Given the description of an element on the screen output the (x, y) to click on. 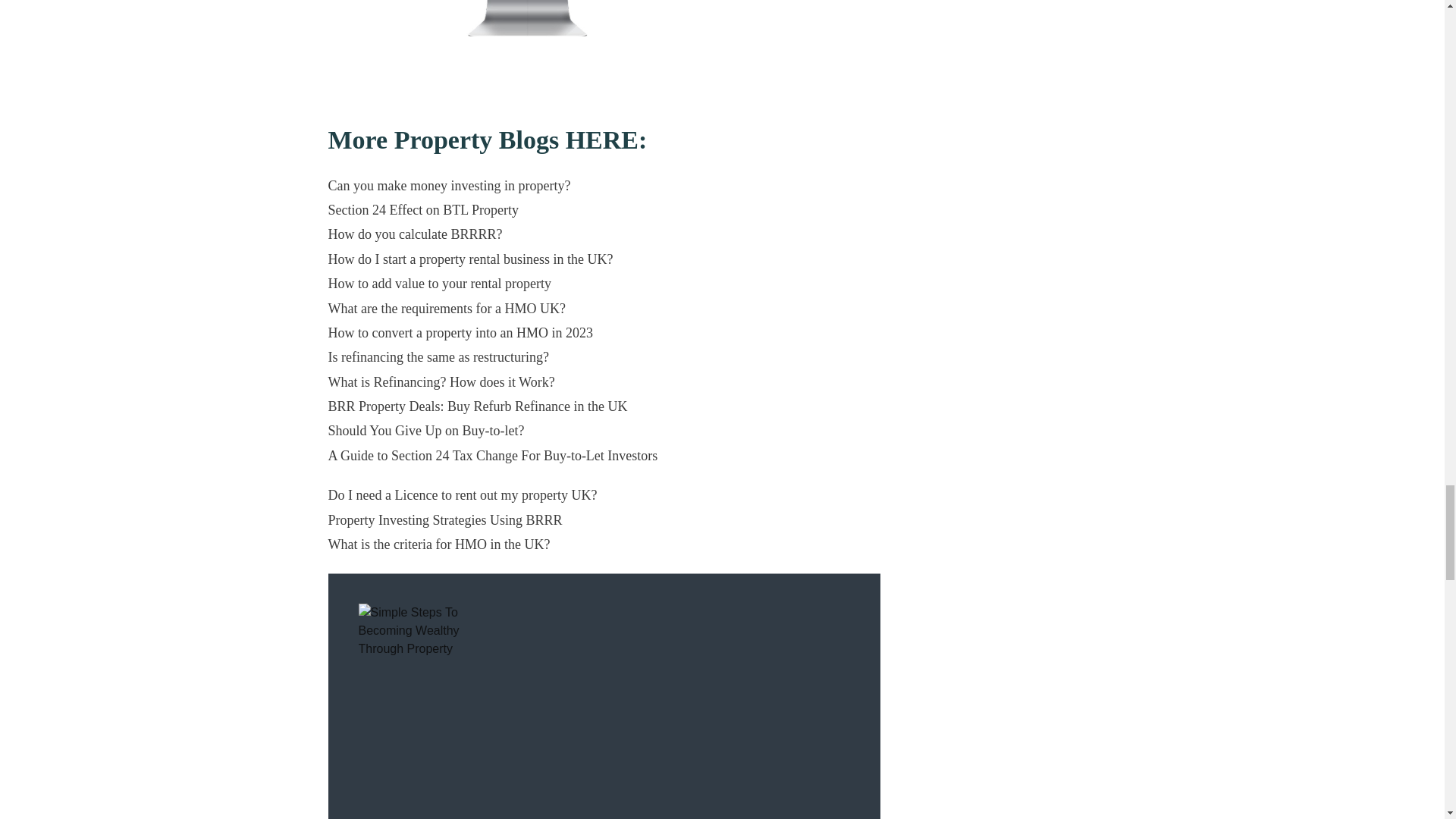
Should You Give Up on Buy-to-let? (425, 430)
Is refinancing the same as restructuring? (437, 356)
How to add value to your rental property (438, 283)
Can you make money investing in property? (448, 185)
How to convert a property into an HMO in 2023 (459, 332)
A Guide to Section 24 Tax Change For Buy-to-Let Investors (492, 455)
Section 24 Effect on BTL Property (422, 209)
How do you calculate BRRRR? (414, 233)
Property Investing Strategies Using BRRR (444, 519)
BRR Property Deals: Buy Refurb Refinance in the UK (477, 406)
